Given the description of an element on the screen output the (x, y) to click on. 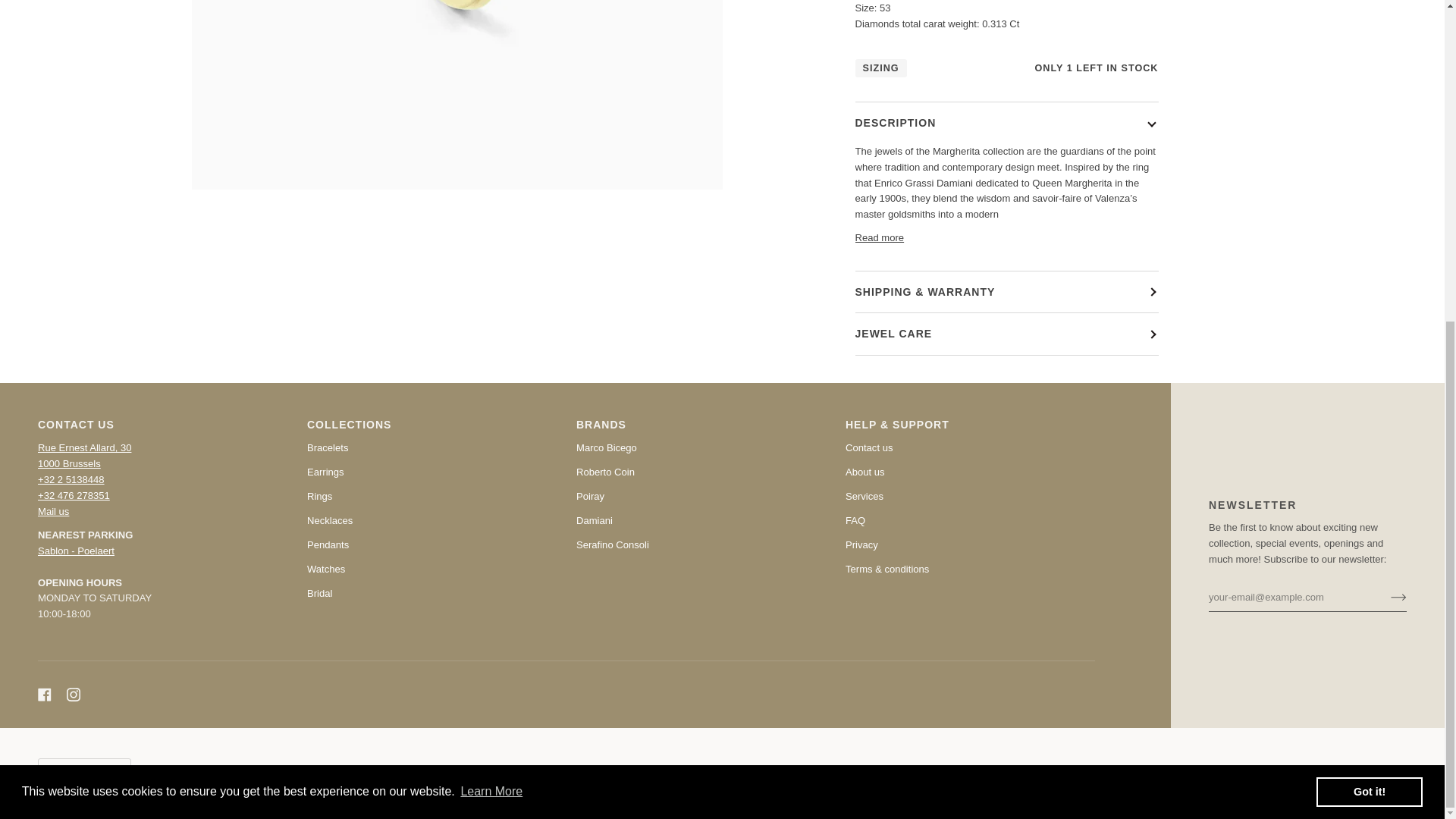
Facebook (43, 694)
Instagram (73, 694)
Learn More (491, 268)
Mail us (52, 511)
Got it! (1369, 268)
